Given the description of an element on the screen output the (x, y) to click on. 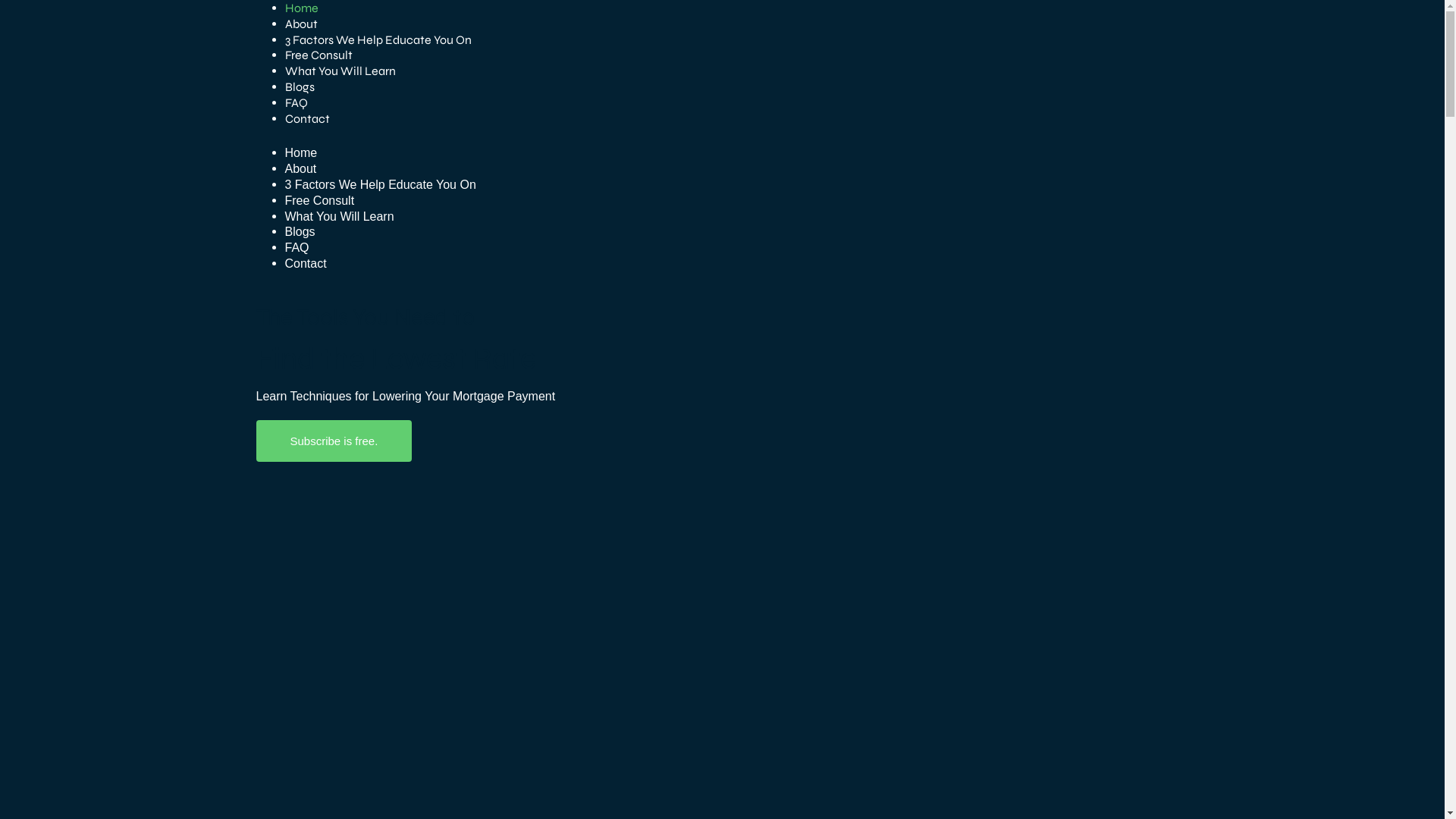
Subscribe is free. Element type: text (334, 440)
Blogs Element type: text (299, 86)
FAQ Element type: text (297, 247)
Free Consult Element type: text (319, 200)
3 Factors We Help Educate You On Element type: text (378, 39)
Contact Element type: text (305, 263)
About Element type: text (301, 23)
About Element type: text (300, 168)
FAQ Element type: text (296, 102)
Contact Element type: text (307, 118)
Free Consult Element type: text (318, 54)
Home Element type: text (301, 7)
Home Element type: text (301, 152)
3 Factors We Help Educate You On Element type: text (380, 184)
What You Will Learn Element type: text (339, 216)
What You Will Learn Element type: text (340, 70)
Blogs Element type: text (300, 231)
